Given the description of an element on the screen output the (x, y) to click on. 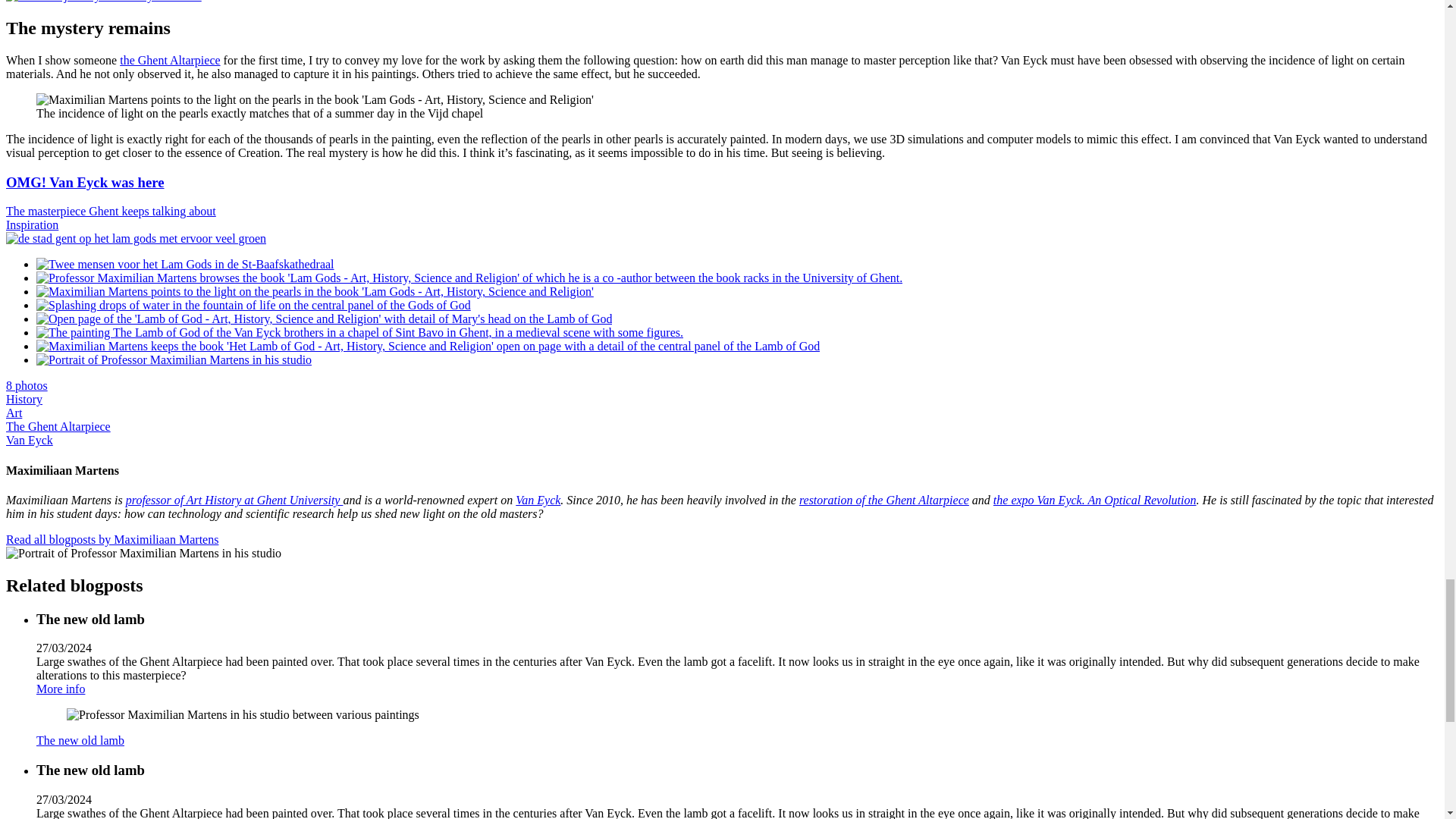
Maximiliaan Martens (111, 539)
